Given the description of an element on the screen output the (x, y) to click on. 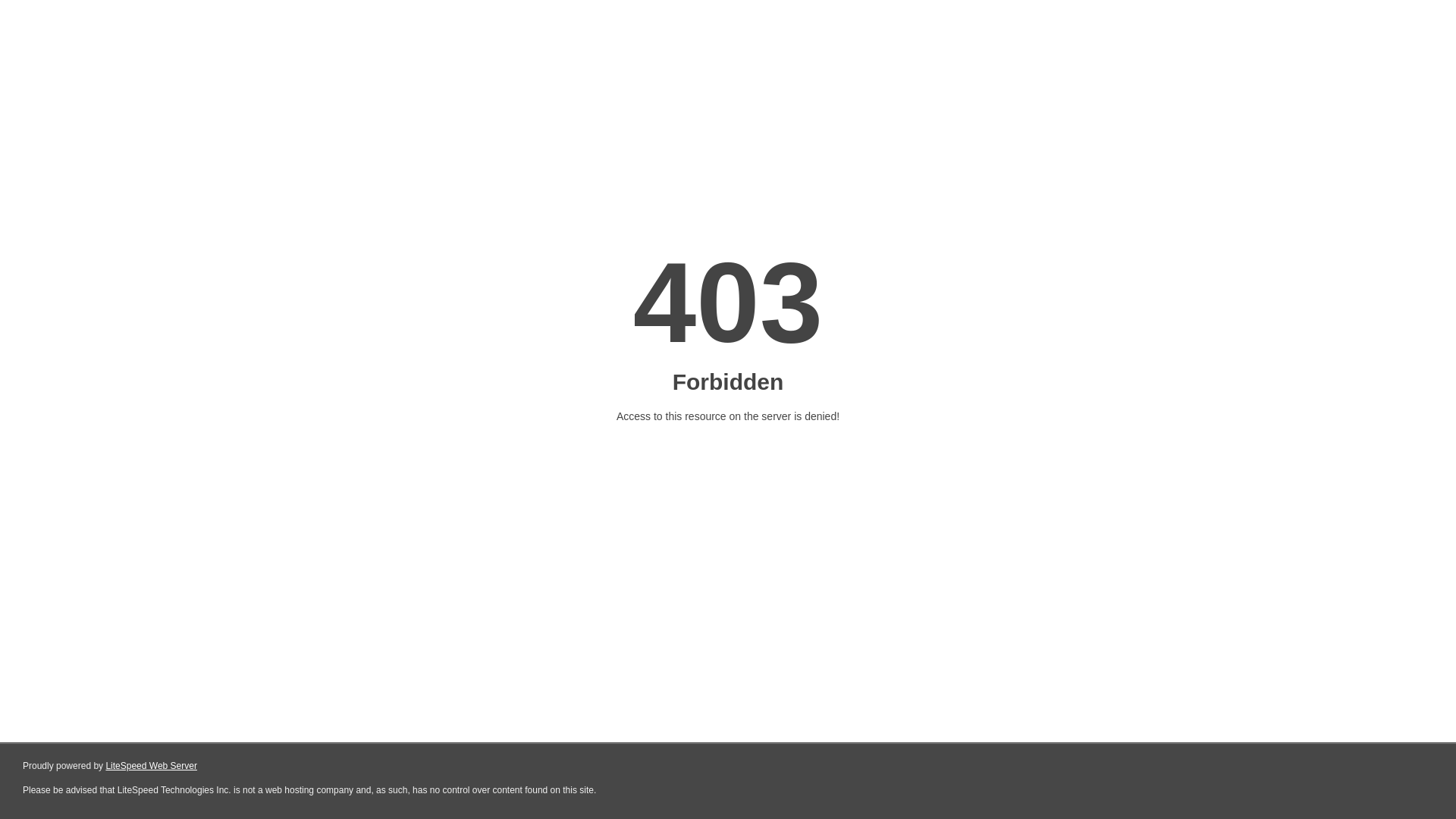
LiteSpeed Web Server Element type: text (151, 765)
